Given the description of an element on the screen output the (x, y) to click on. 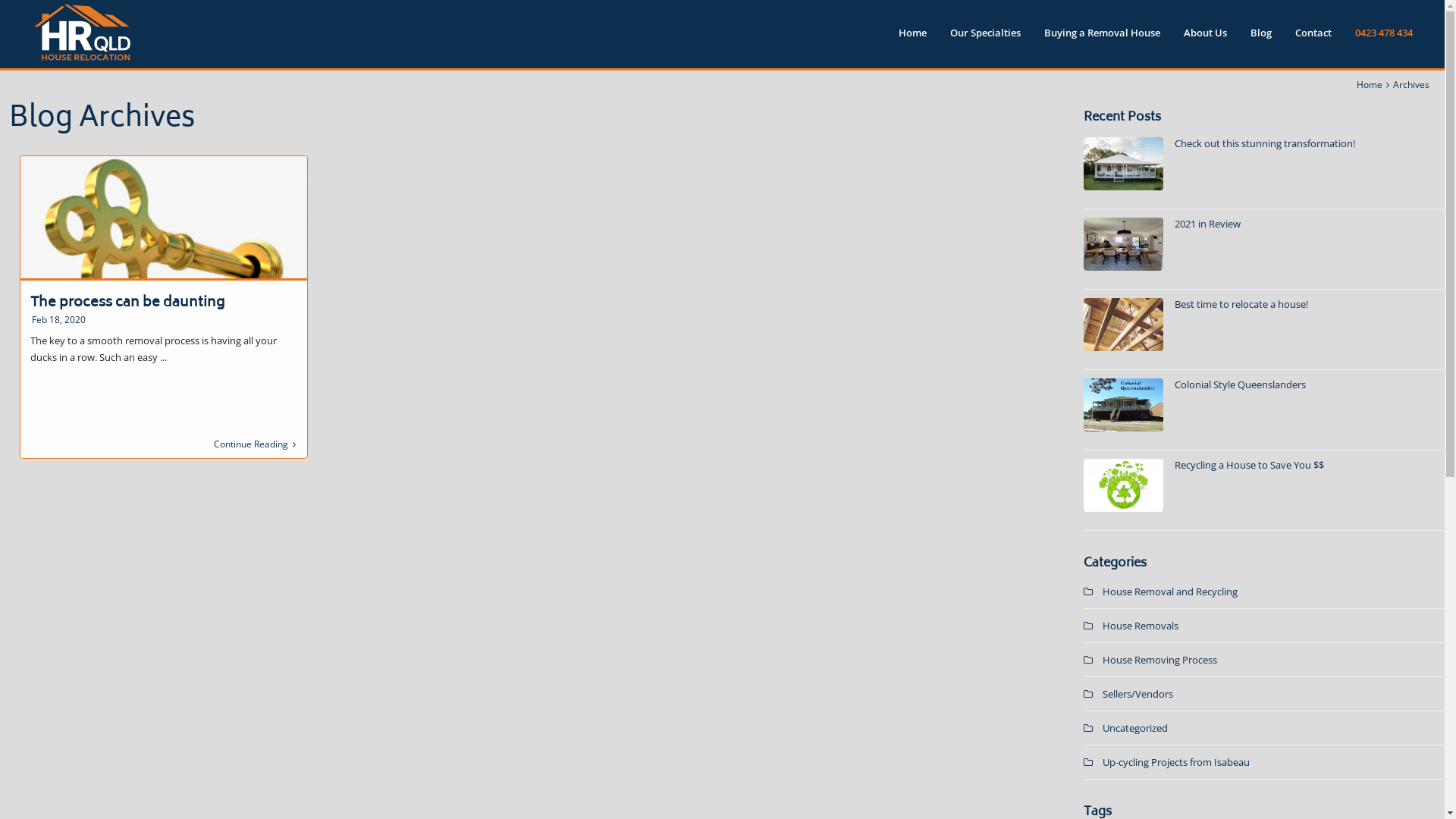
House Removals Element type: text (1140, 625)
0423 478 434 Element type: text (1383, 38)
Uncategorized Element type: text (1134, 727)
Check out this stunning transformation! Element type: text (1264, 143)
Best time to relocate a house! Element type: text (1241, 303)
2021 in Review Element type: text (1207, 223)
Home Element type: text (912, 38)
House Removing Process Element type: text (1159, 659)
Contact Element type: text (1313, 38)
Continue Reading Element type: text (254, 443)
Home Element type: text (1369, 84)
Recycling a House to Save You $$ Element type: text (1249, 464)
The process can be daunting Element type: text (127, 303)
Colonial Style Queenslanders Element type: text (1239, 384)
Sellers/Vendors Element type: text (1137, 693)
About Us Element type: text (1205, 38)
Blog Element type: text (1260, 38)
Up-cycling Projects from Isabeau Element type: text (1175, 761)
House Removal and Recycling Element type: text (1169, 591)
Buying a Removal House Element type: text (1101, 38)
Our Specialties Element type: text (985, 38)
